Given the description of an element on the screen output the (x, y) to click on. 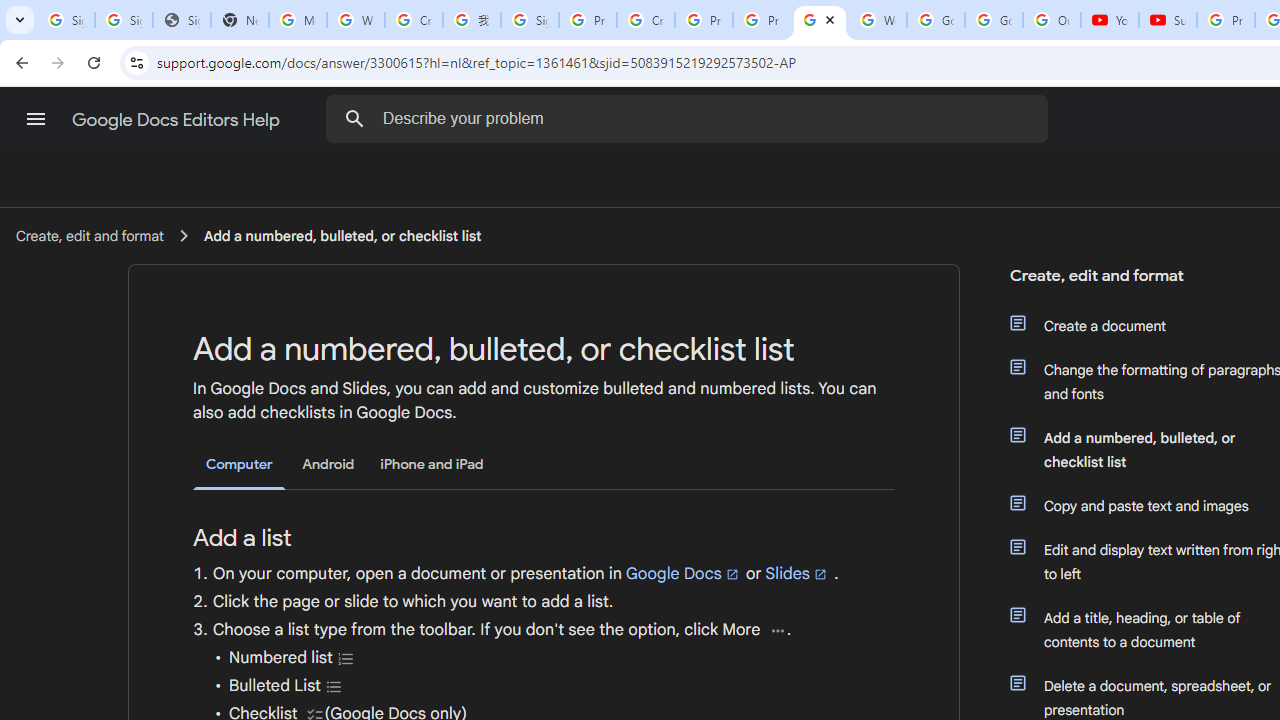
Sign in - Google Accounts (529, 20)
Search tabs (20, 20)
System (10, 11)
Search the Help Center (354, 118)
Android (328, 464)
View site information (136, 62)
Main menu (35, 119)
iPhone and iPad (431, 464)
Subscriptions - YouTube (1167, 20)
Bulleted List (334, 686)
More (777, 630)
Google Docs (683, 573)
Create your Google Account (645, 20)
Slides (797, 573)
